Given the description of an element on the screen output the (x, y) to click on. 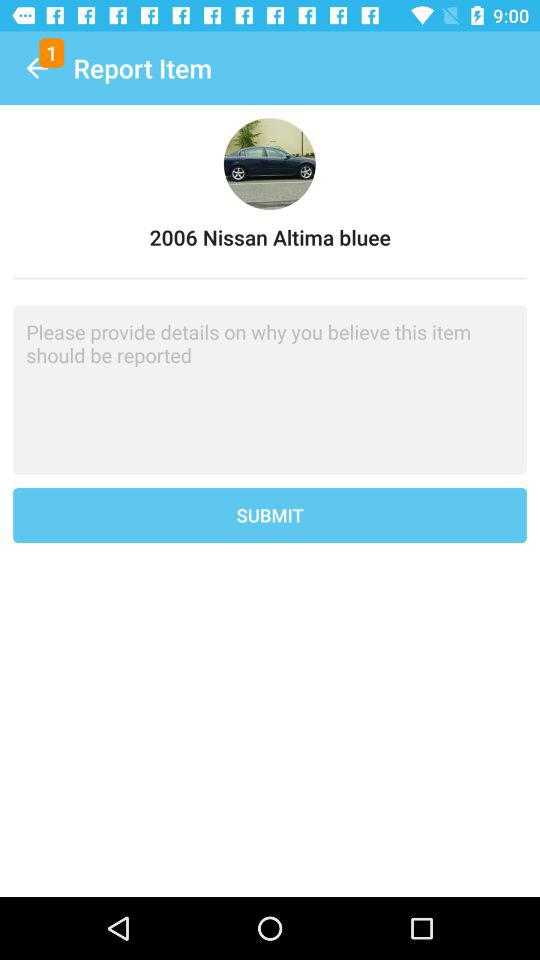
scroll to submit icon (269, 515)
